Given the description of an element on the screen output the (x, y) to click on. 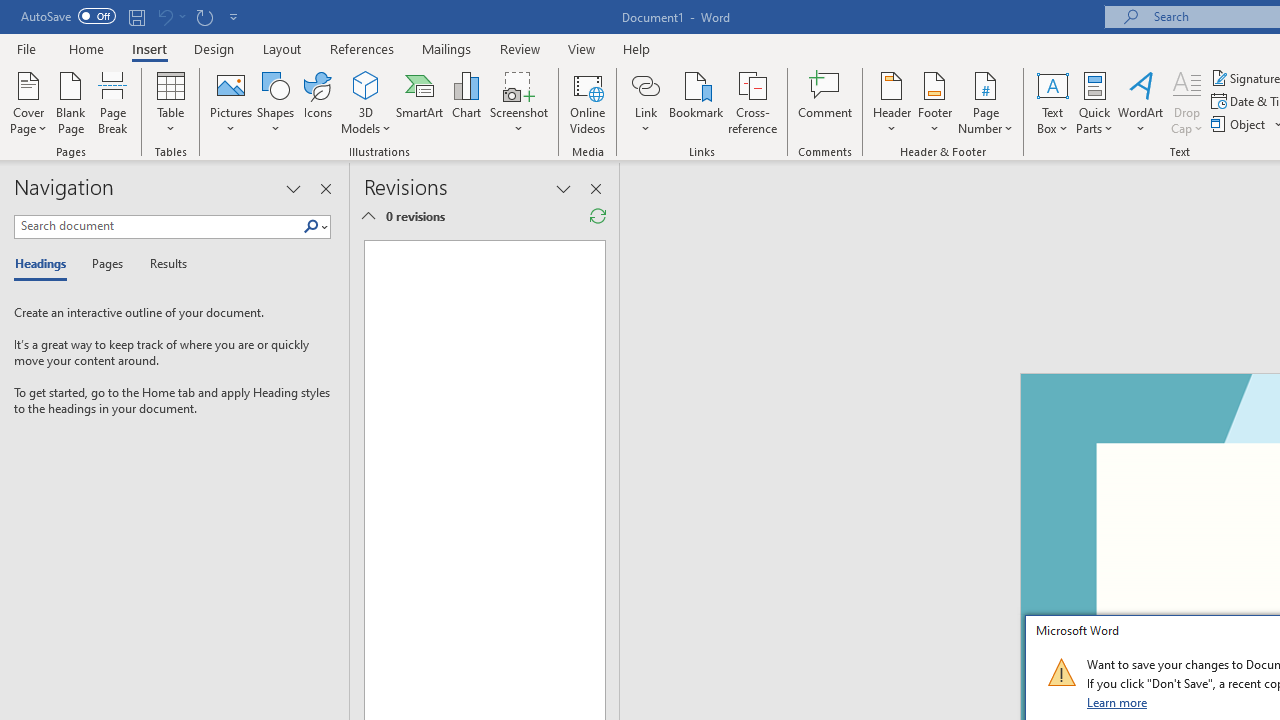
Quick Parts (1094, 102)
Page Break (113, 102)
Screenshot (518, 102)
Comment (825, 102)
Header (891, 102)
